Given the description of an element on the screen output the (x, y) to click on. 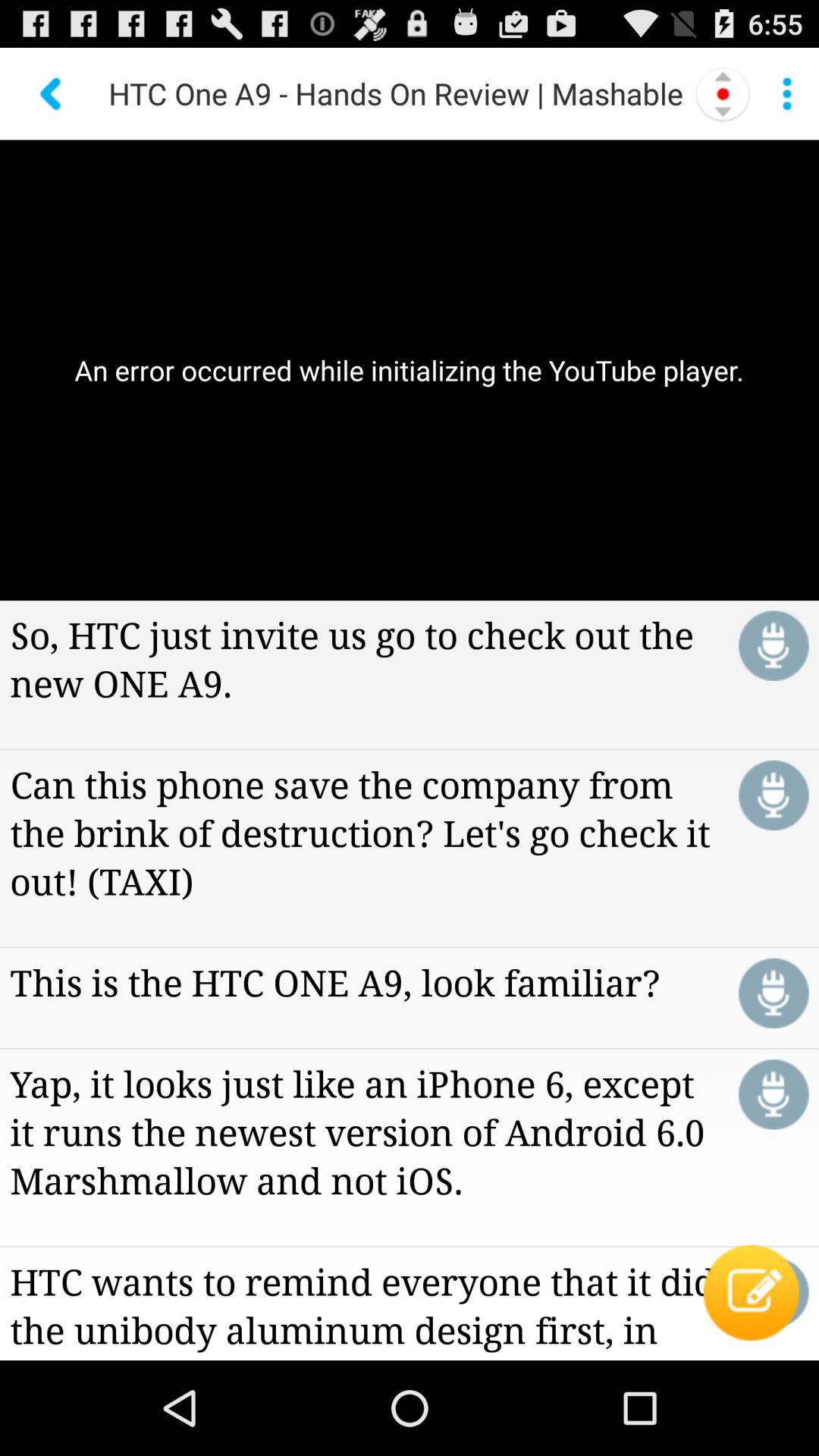
press icon above an error occurred (787, 93)
